Given the description of an element on the screen output the (x, y) to click on. 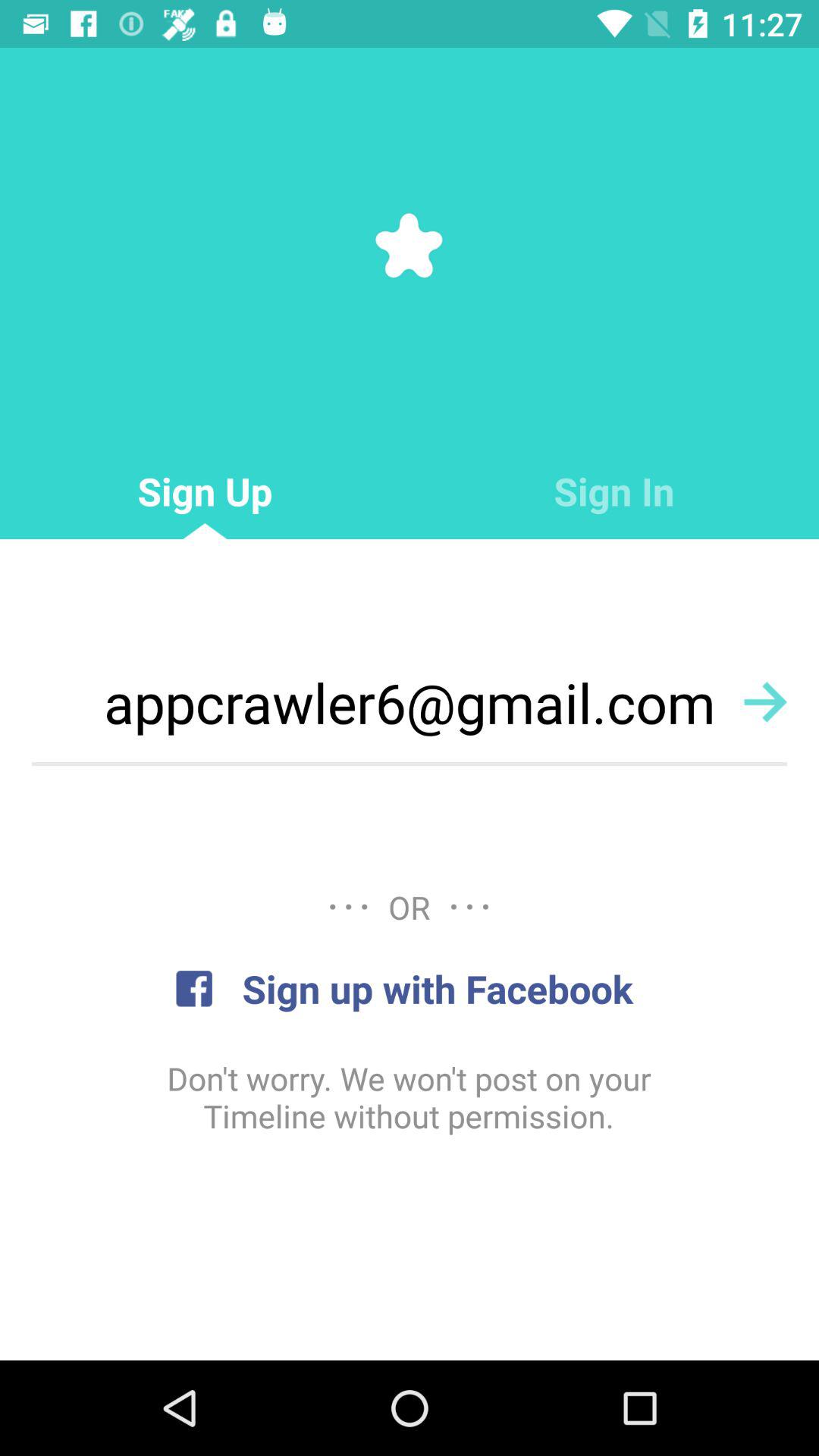
turn on the icon below the sign up (409, 702)
